Given the description of an element on the screen output the (x, y) to click on. 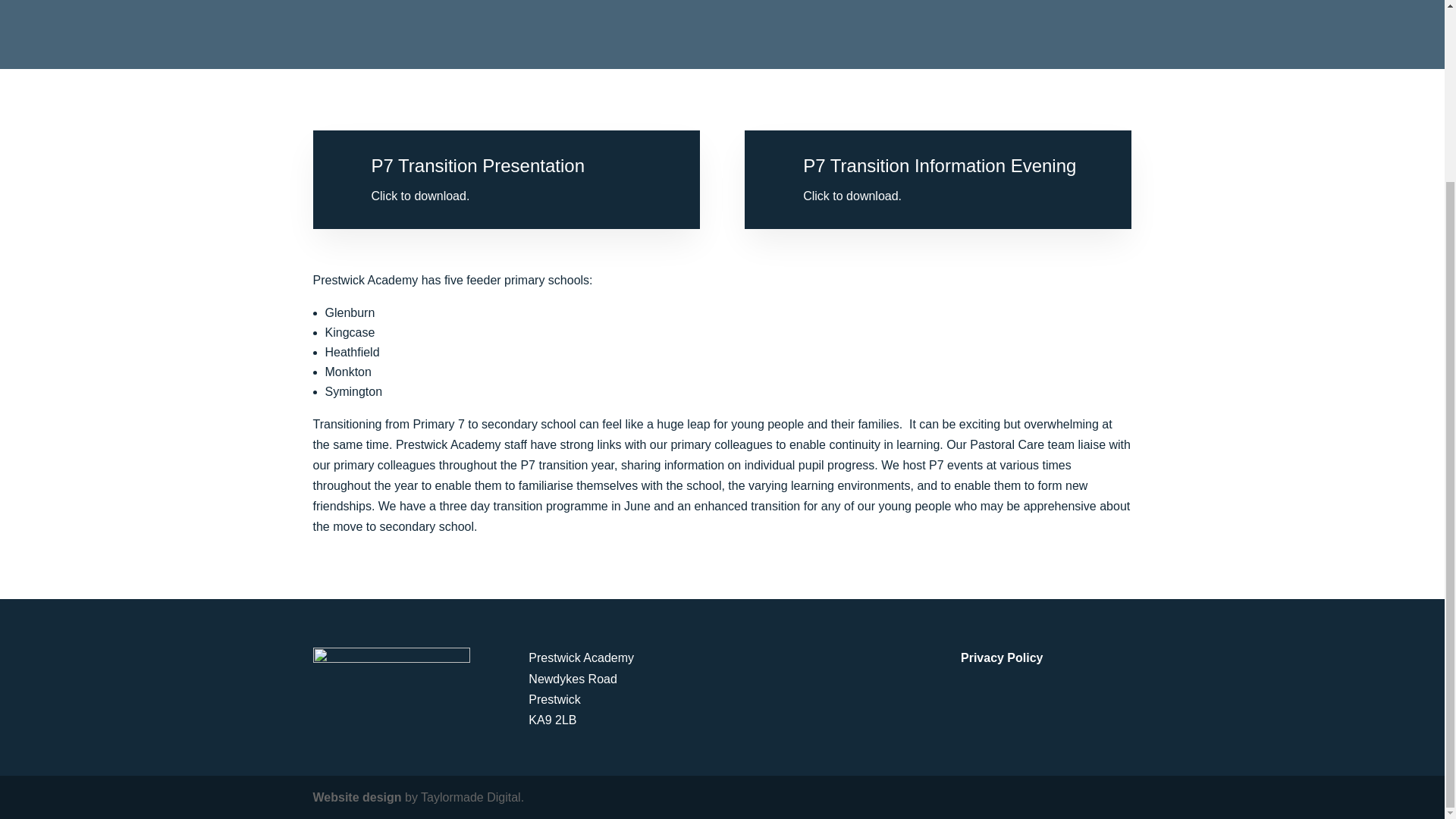
P7 Transition Information Evening (939, 165)
Privacy Policy (1001, 657)
Website design (357, 797)
P7 Transition Presentation (478, 165)
